Given the description of an element on the screen output the (x, y) to click on. 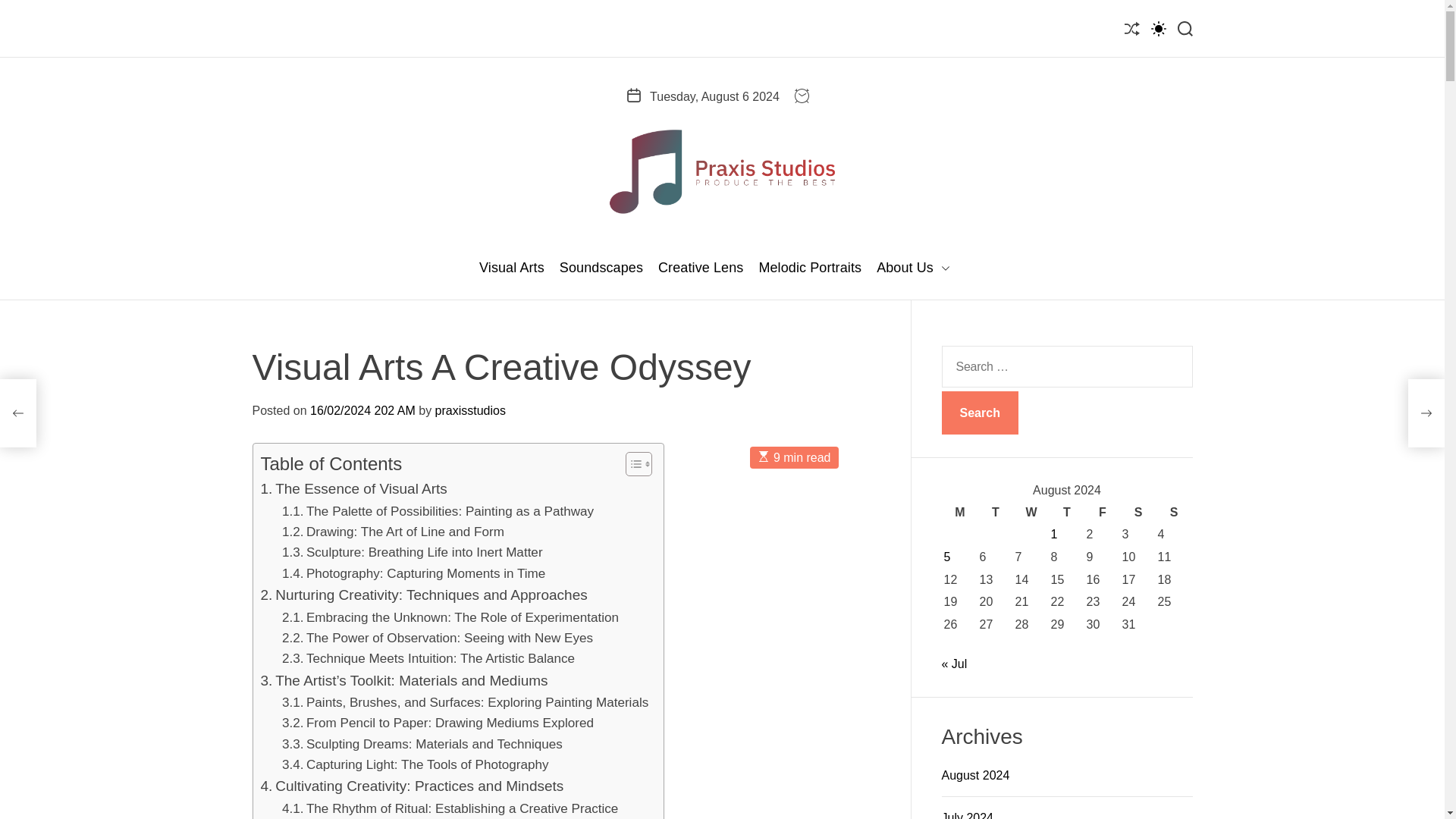
Nurturing Creativity: Techniques and Approaches (424, 594)
Drawing: The Art of Line and Form (392, 531)
Search (979, 412)
Capturing Light: The Tools of Photography (415, 764)
Drawing: The Art of Line and Form (392, 531)
Search (979, 412)
Creative Lens (700, 268)
The Power of Observation: Seeing with New Eyes (437, 638)
Soundscapes (601, 268)
Embracing the Unknown: The Role of Experimentation (450, 617)
